Given the description of an element on the screen output the (x, y) to click on. 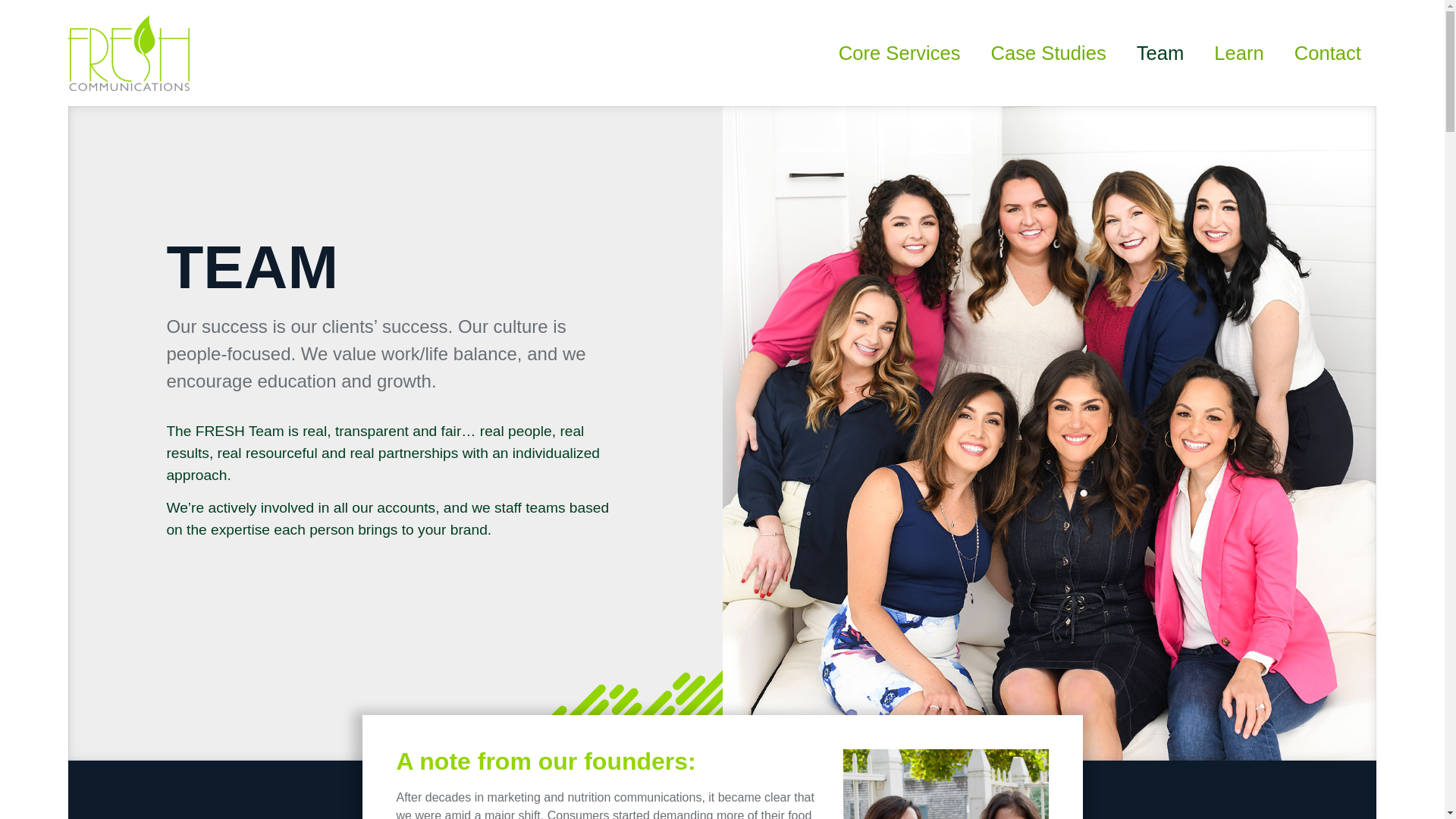
Core Services (899, 53)
Team (1160, 53)
Learn (1238, 53)
Case Studies (1048, 53)
